Given the description of an element on the screen output the (x, y) to click on. 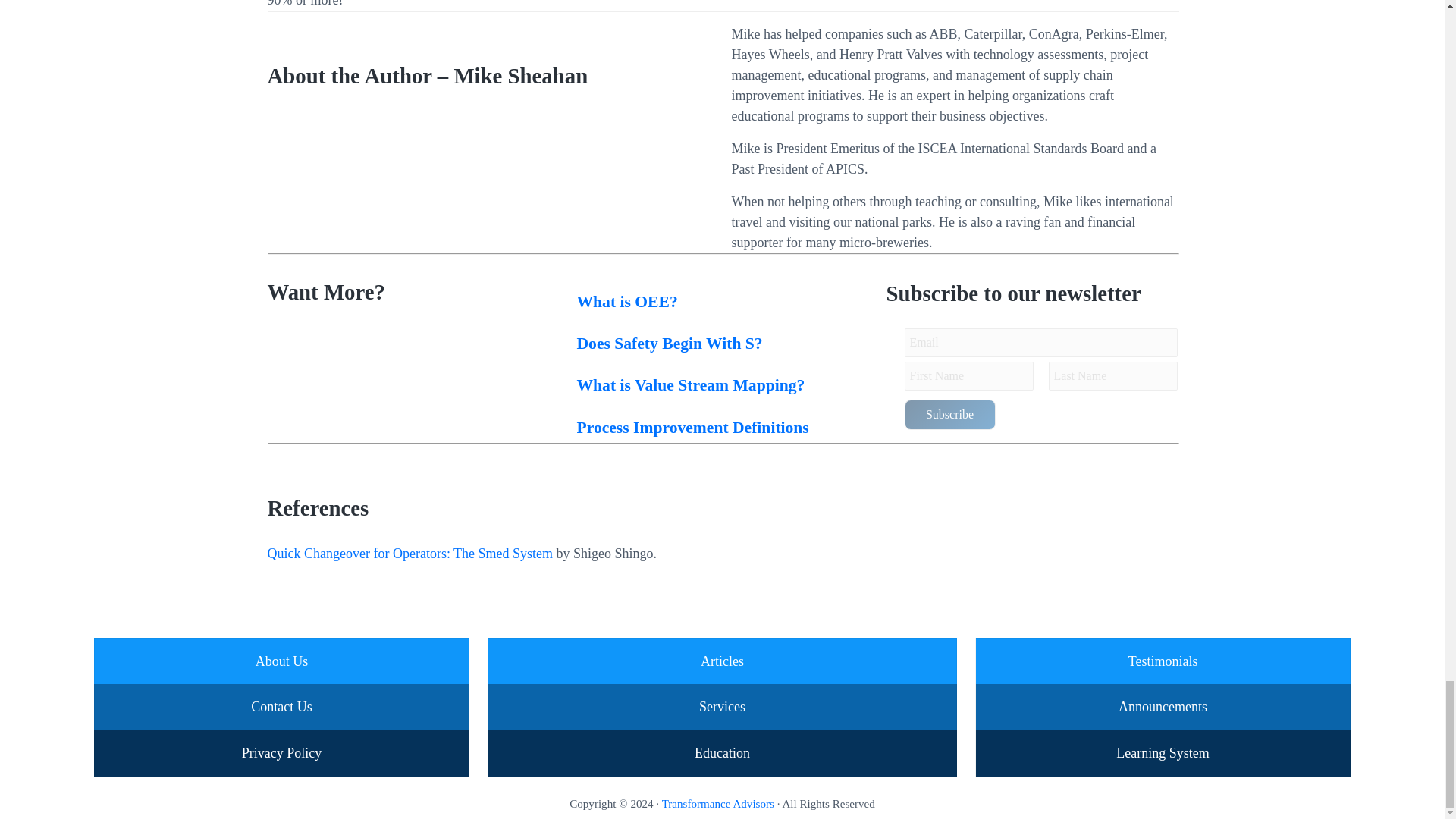
Contact Us (281, 706)
Announcements (1162, 706)
Process Improvement Definitions (692, 427)
What is OEE? (626, 301)
Testimonials (1163, 661)
Quick Changeover for Operators: The Smed System (409, 553)
Privacy Policy (281, 752)
About Us (282, 661)
Does Safety Begin With S? (668, 343)
What is OEE? (626, 301)
Transformance Advisors (718, 803)
Services (721, 706)
What is Value Stream Mapping? (690, 384)
Learning System (1162, 752)
Subscribe (949, 414)
